Given the description of an element on the screen output the (x, y) to click on. 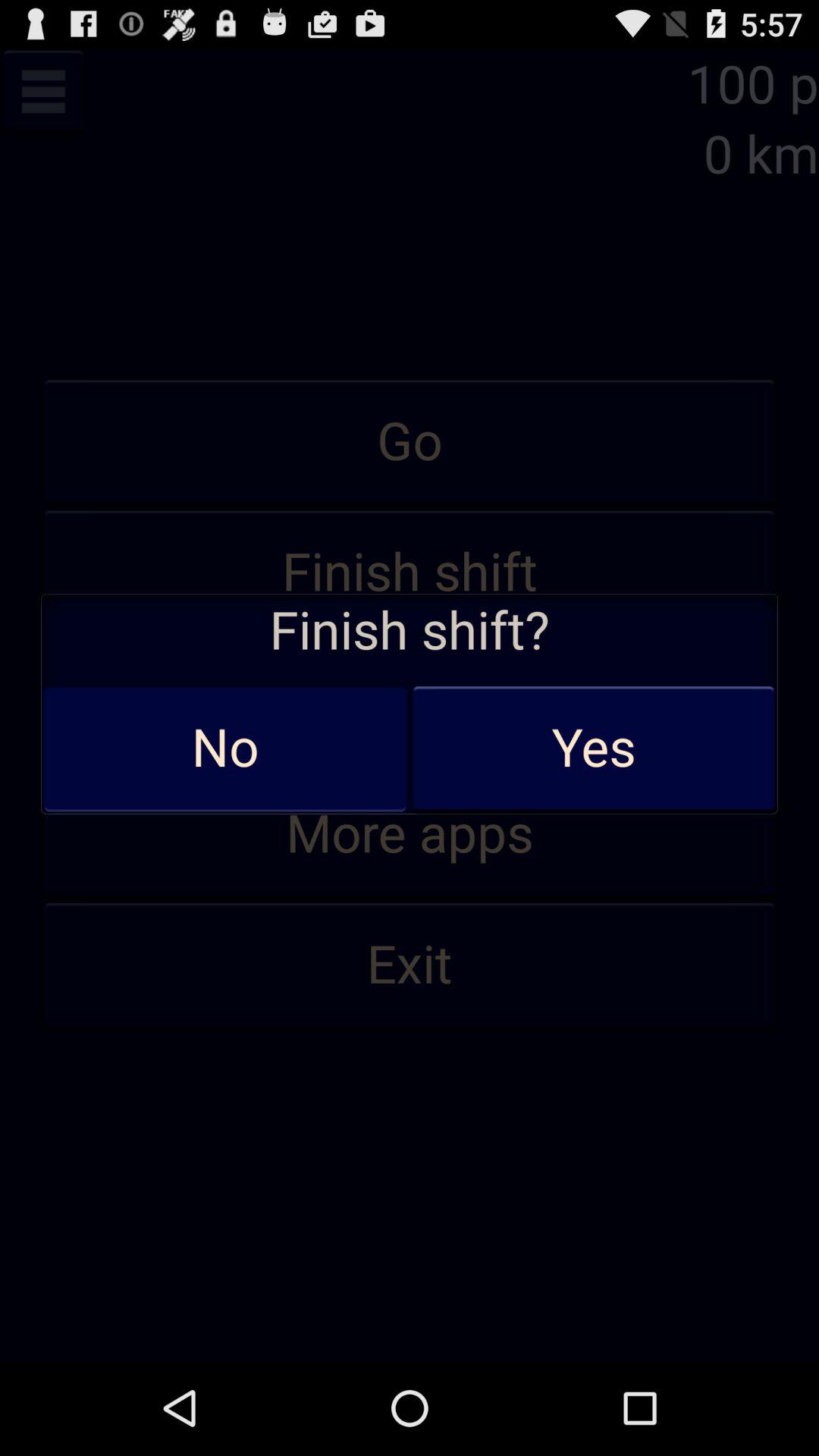
tap the icon below the 0 km icon (409, 442)
